Given the description of an element on the screen output the (x, y) to click on. 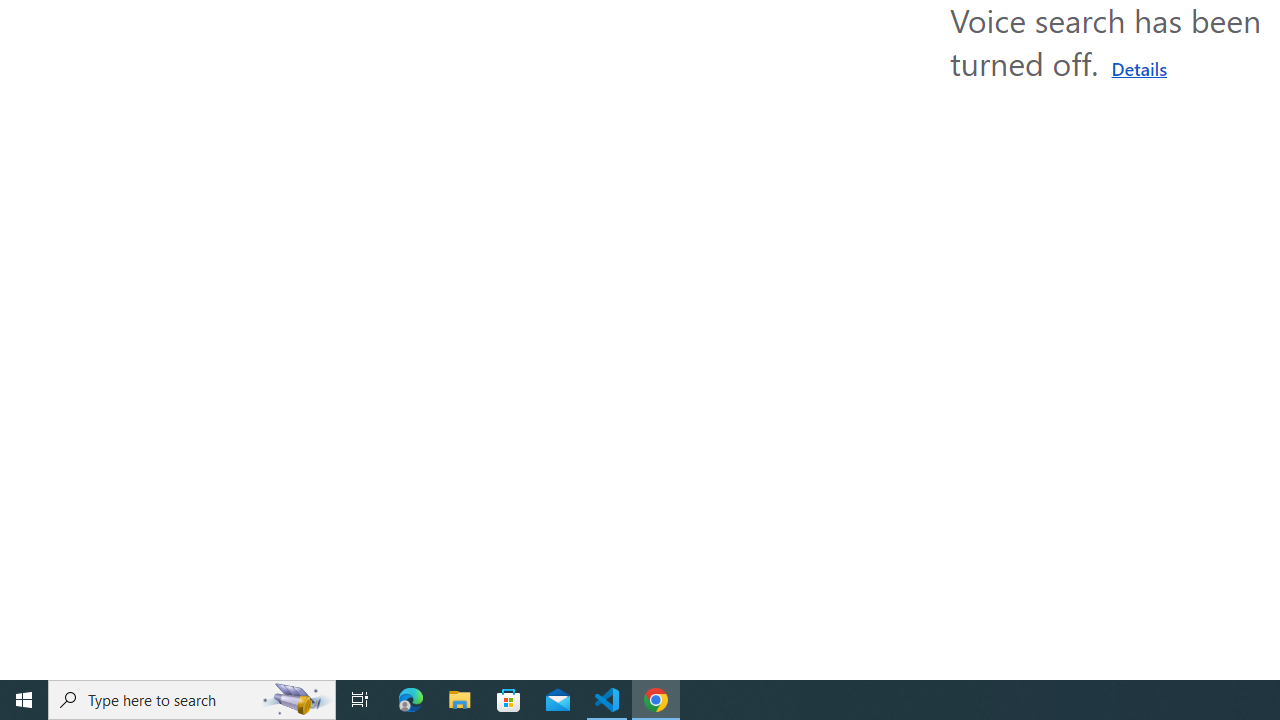
Learn more about using a microphone (1139, 68)
